Given the description of an element on the screen output the (x, y) to click on. 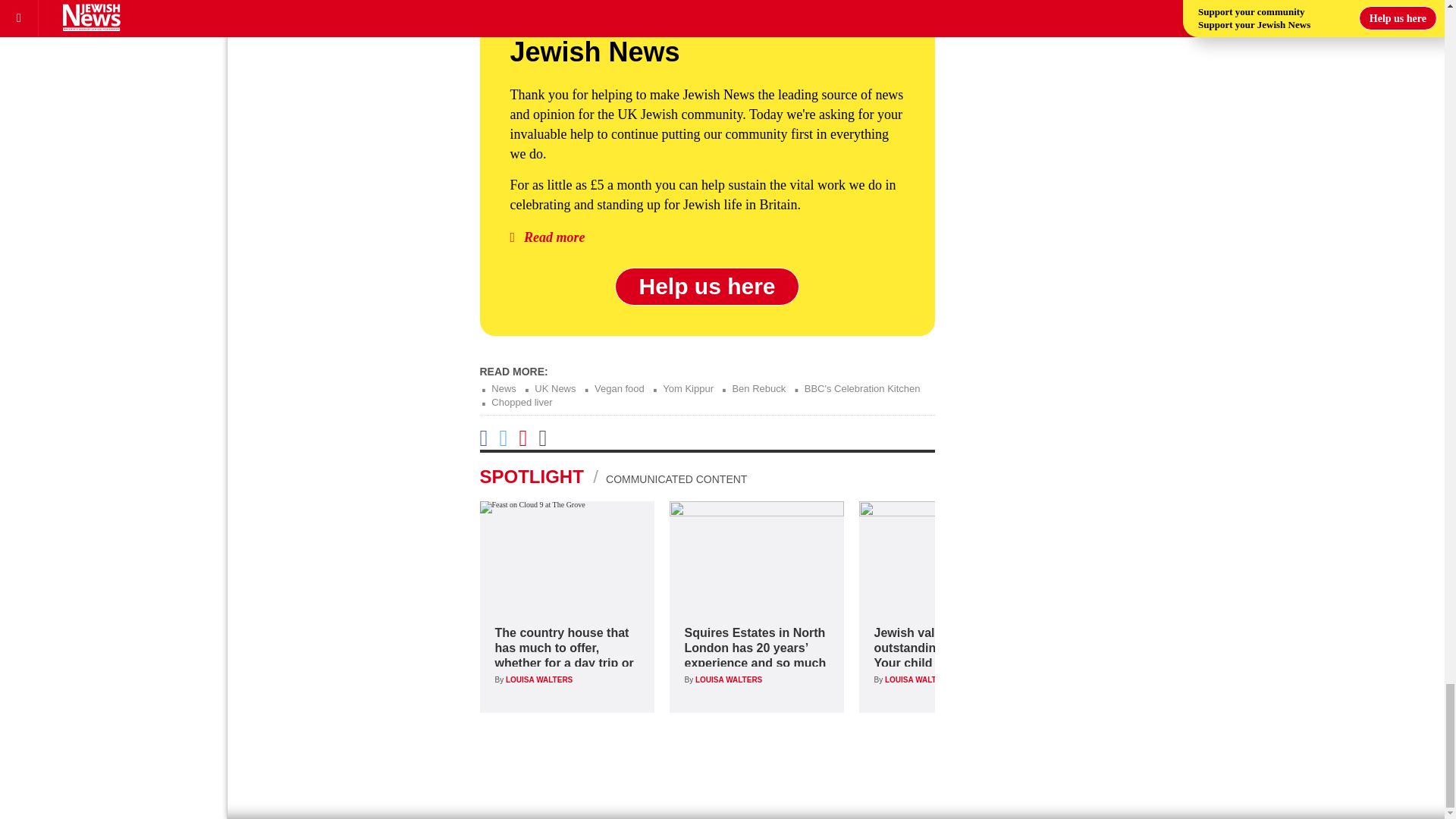
Louisa Walters (728, 679)
Louisa Walters (538, 679)
Feast on Cloud 9 at The Grove (566, 555)
Louisa Walters (918, 679)
